Given the description of an element on the screen output the (x, y) to click on. 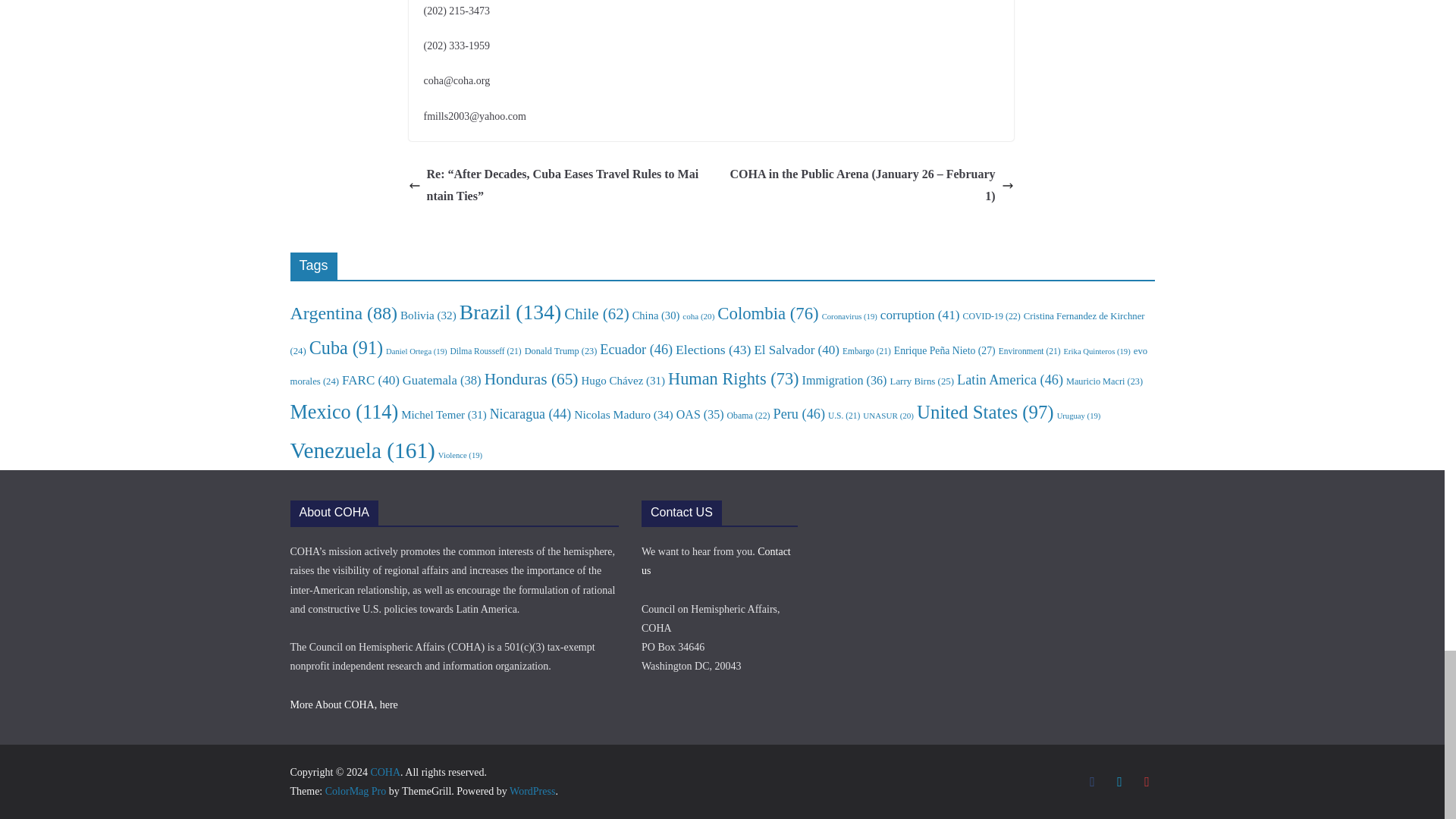
COHA (384, 772)
WordPress (531, 790)
ColorMag Pro (355, 790)
